Given the description of an element on the screen output the (x, y) to click on. 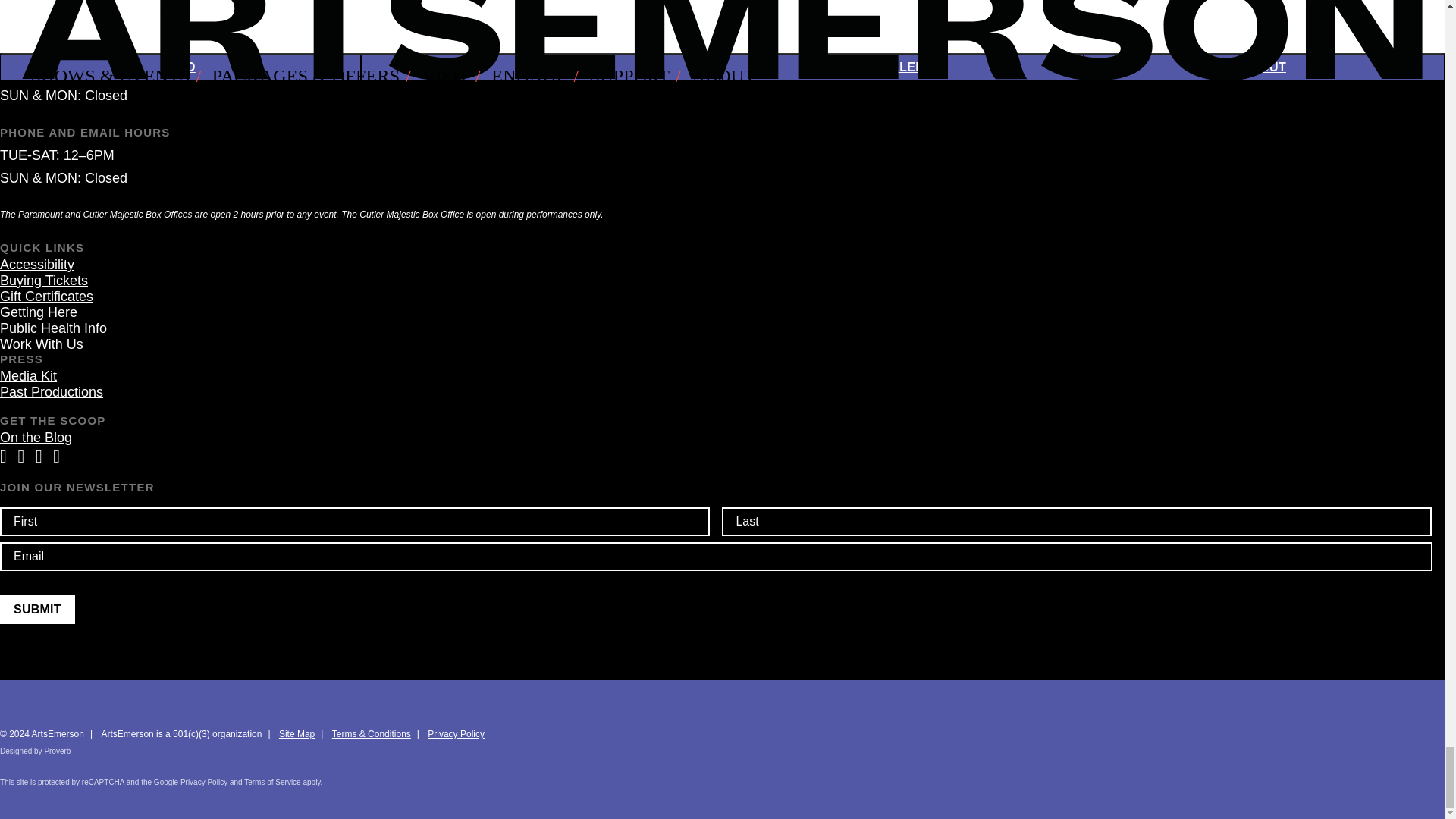
Submit (37, 609)
